Given the description of an element on the screen output the (x, y) to click on. 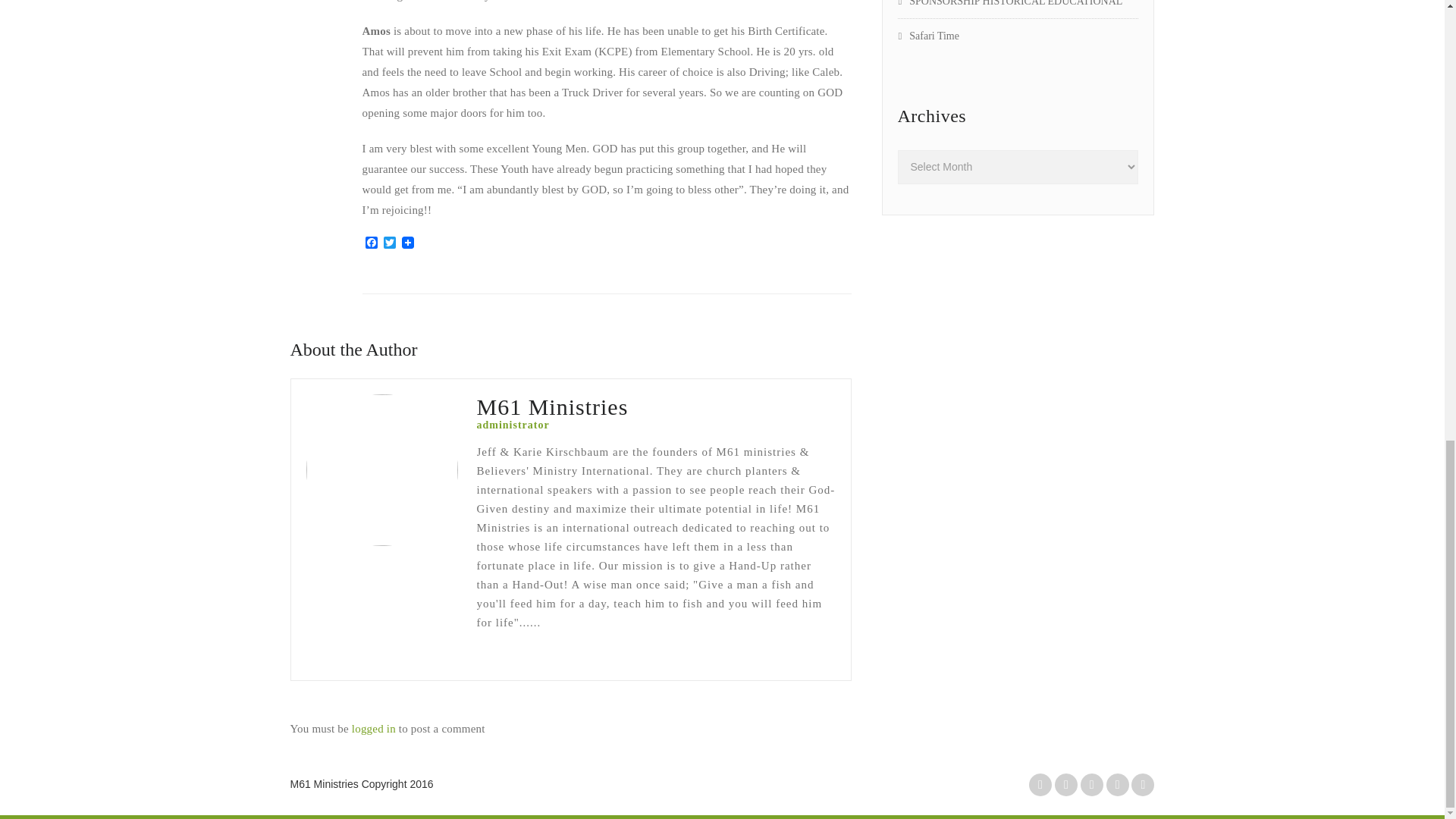
Twitter (389, 243)
Safari Time (928, 35)
Facebook (371, 243)
Twitter (389, 243)
logged in (374, 728)
Facebook (371, 243)
SPONSORSHIP HISTORICAL EDUCATIONAL (1010, 3)
